Given the description of an element on the screen output the (x, y) to click on. 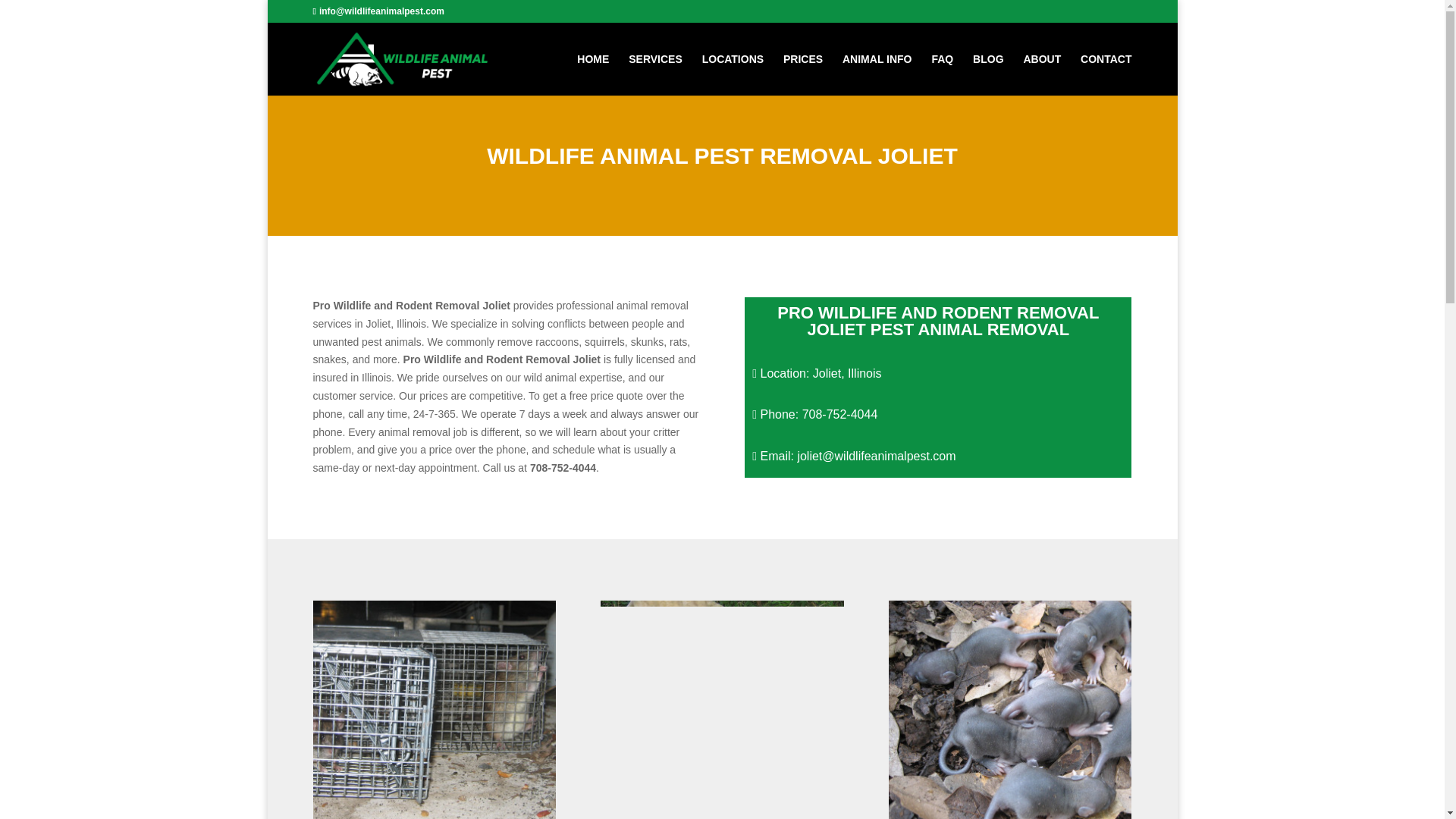
LOCATIONS (731, 74)
Pro Wildlife and Rodent Removal Joliet Pest Animal Removal (433, 709)
PRICES (802, 74)
SERVICES (655, 74)
CONTACT (1105, 74)
ABOUT (1042, 74)
Pro Wildlife and Rodent Removal Joliet Pest Animal Removal (1009, 709)
ANIMAL INFO (877, 74)
Pro Wildlife and Rodent Removal Joliet Pest Animal Removal (721, 709)
